Given the description of an element on the screen output the (x, y) to click on. 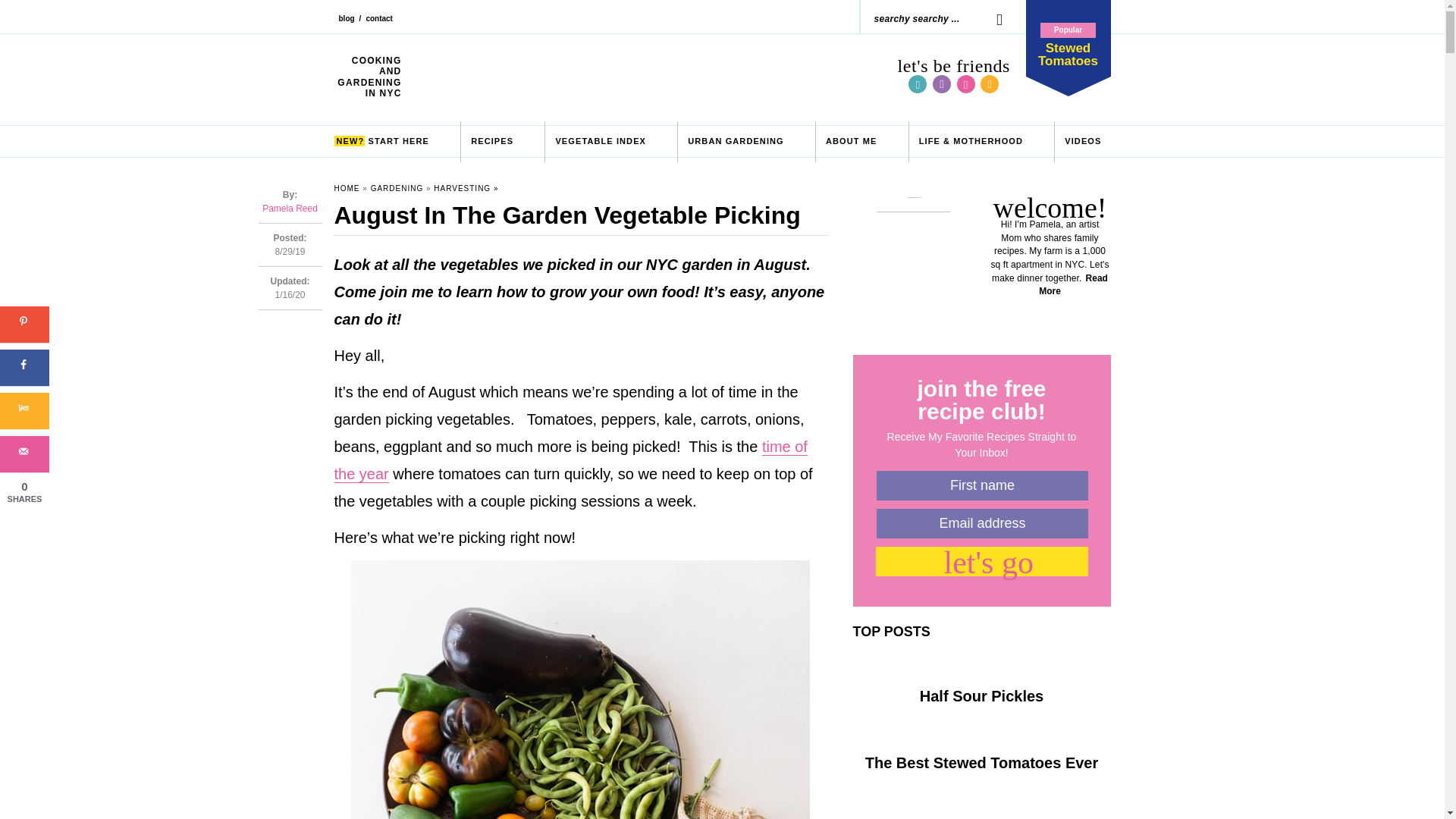
contact (379, 23)
NEW? START HERE (380, 141)
Skip to primary navigation (1067, 38)
Send over email (345, 23)
Share on Facebook (24, 453)
Brooklyn Farm Girl (24, 367)
Share on Yummly (649, 77)
Search (24, 411)
hey you. (992, 17)
Save to Pinterest (850, 141)
RECIPES (24, 324)
Search (491, 141)
Search (992, 17)
